Given the description of an element on the screen output the (x, y) to click on. 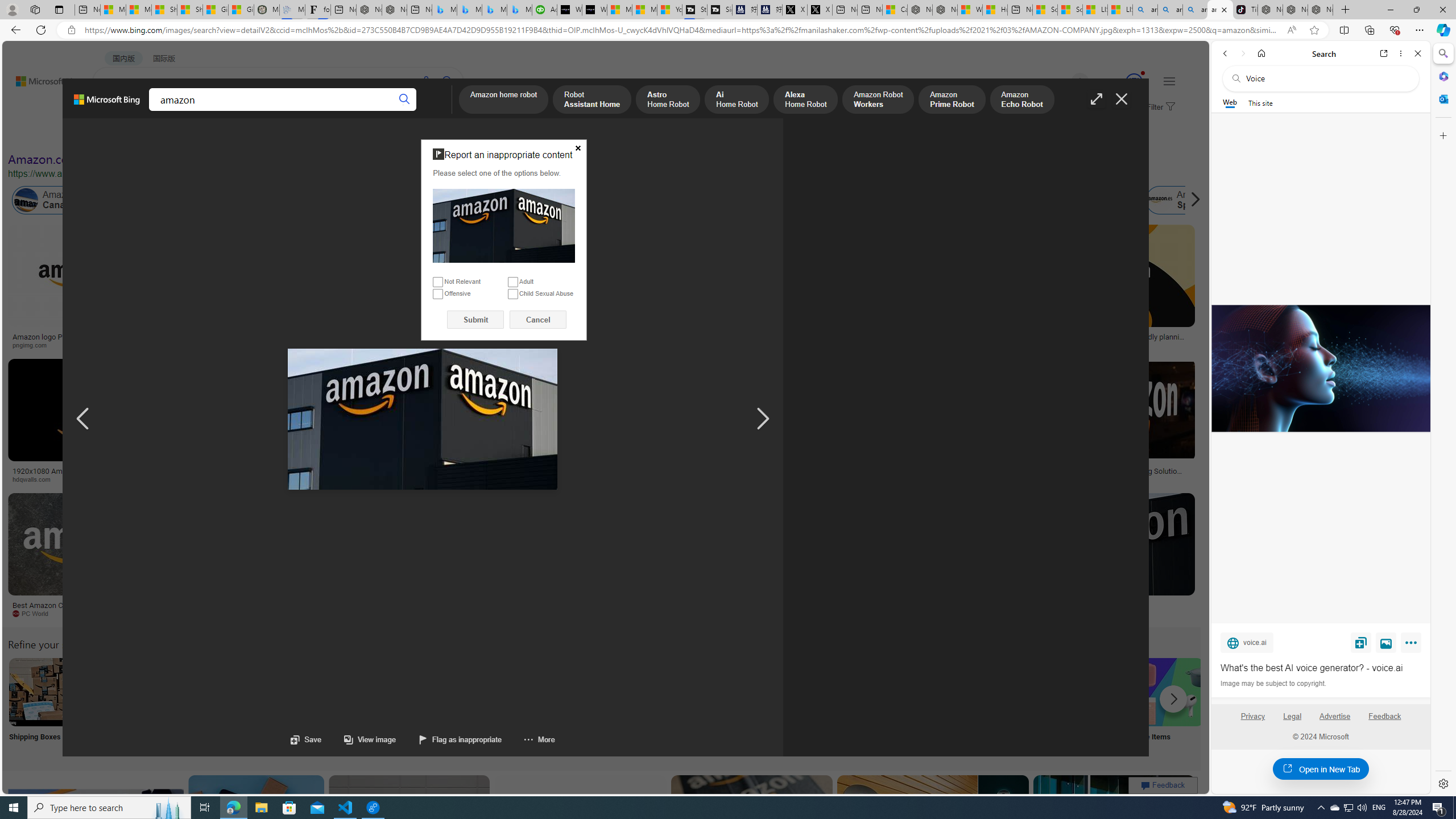
Amazon (1105, 605)
mytotalretail.com (180, 344)
Echo Dot 4th Gen (673, 264)
The Verge (190, 612)
Prime Label (1018, 706)
Kindle Paperwhite Case (673, 298)
Privacy (1252, 715)
Forward (1242, 53)
Legal (1291, 715)
